Given the description of an element on the screen output the (x, y) to click on. 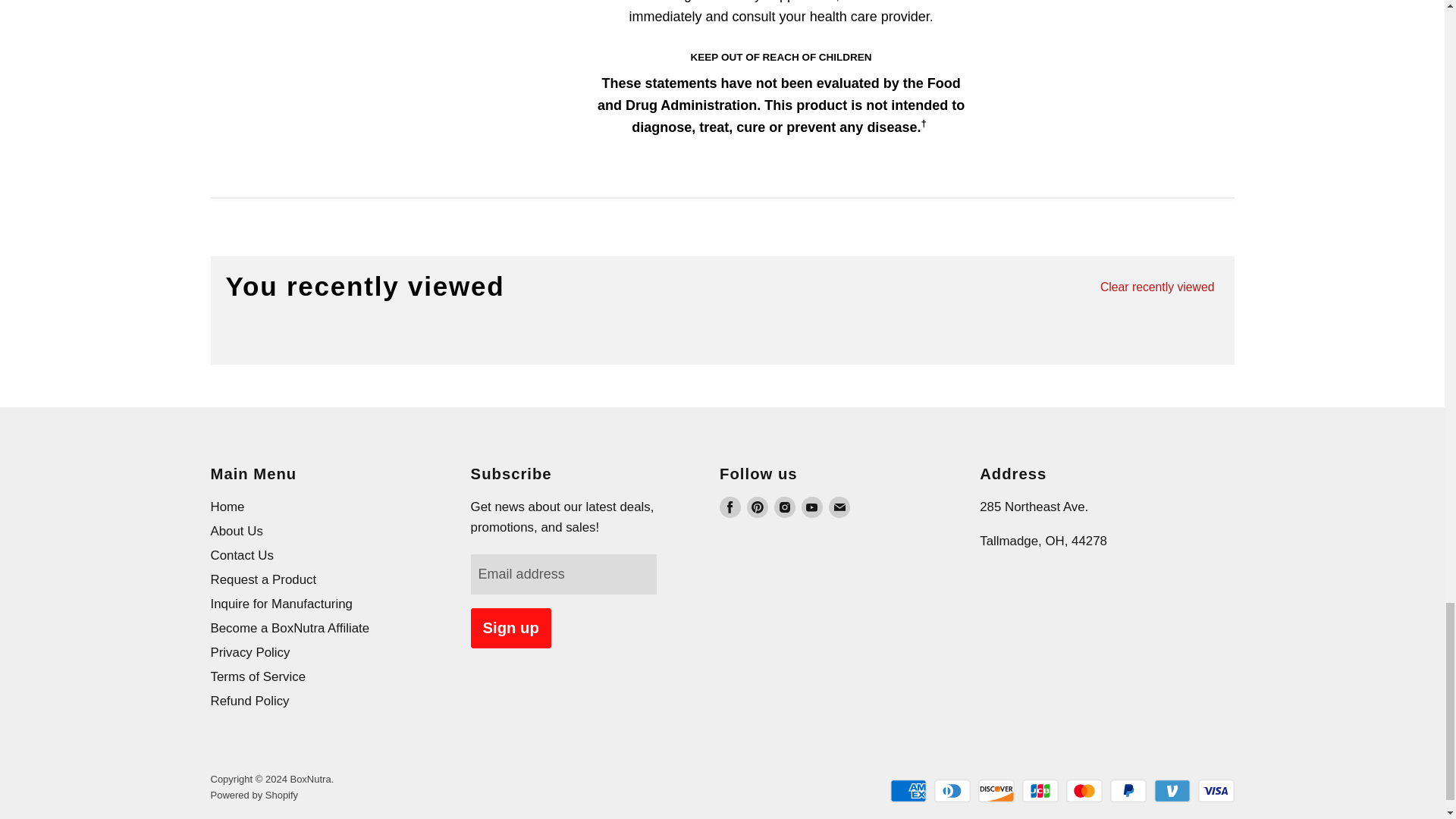
Instagram (784, 506)
Mastercard (1083, 790)
Discover (996, 790)
E-mail (839, 506)
JCB (1040, 790)
Youtube (812, 506)
American Express (907, 790)
Pinterest (757, 506)
Diners Club (952, 790)
Facebook (730, 506)
